Given the description of an element on the screen output the (x, y) to click on. 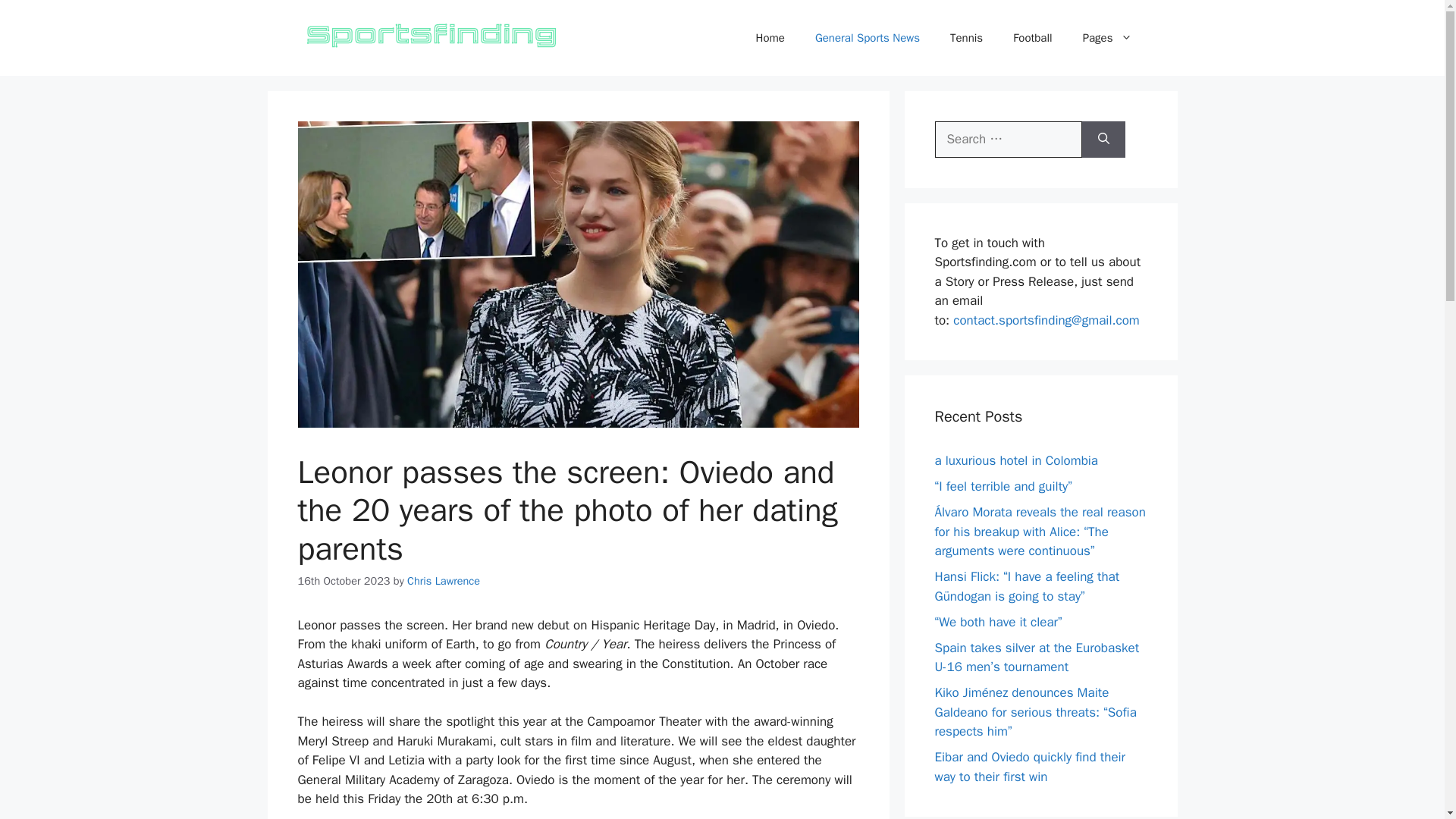
General Sports News (866, 37)
Eibar and Oviedo quickly find their way to their first win (1029, 766)
Football (1032, 37)
Home (770, 37)
Pages (1107, 37)
View all posts by Chris Lawrence (443, 581)
Tennis (965, 37)
Search for: (1007, 139)
Chris Lawrence (443, 581)
a luxurious hotel in Colombia (1015, 460)
